Given the description of an element on the screen output the (x, y) to click on. 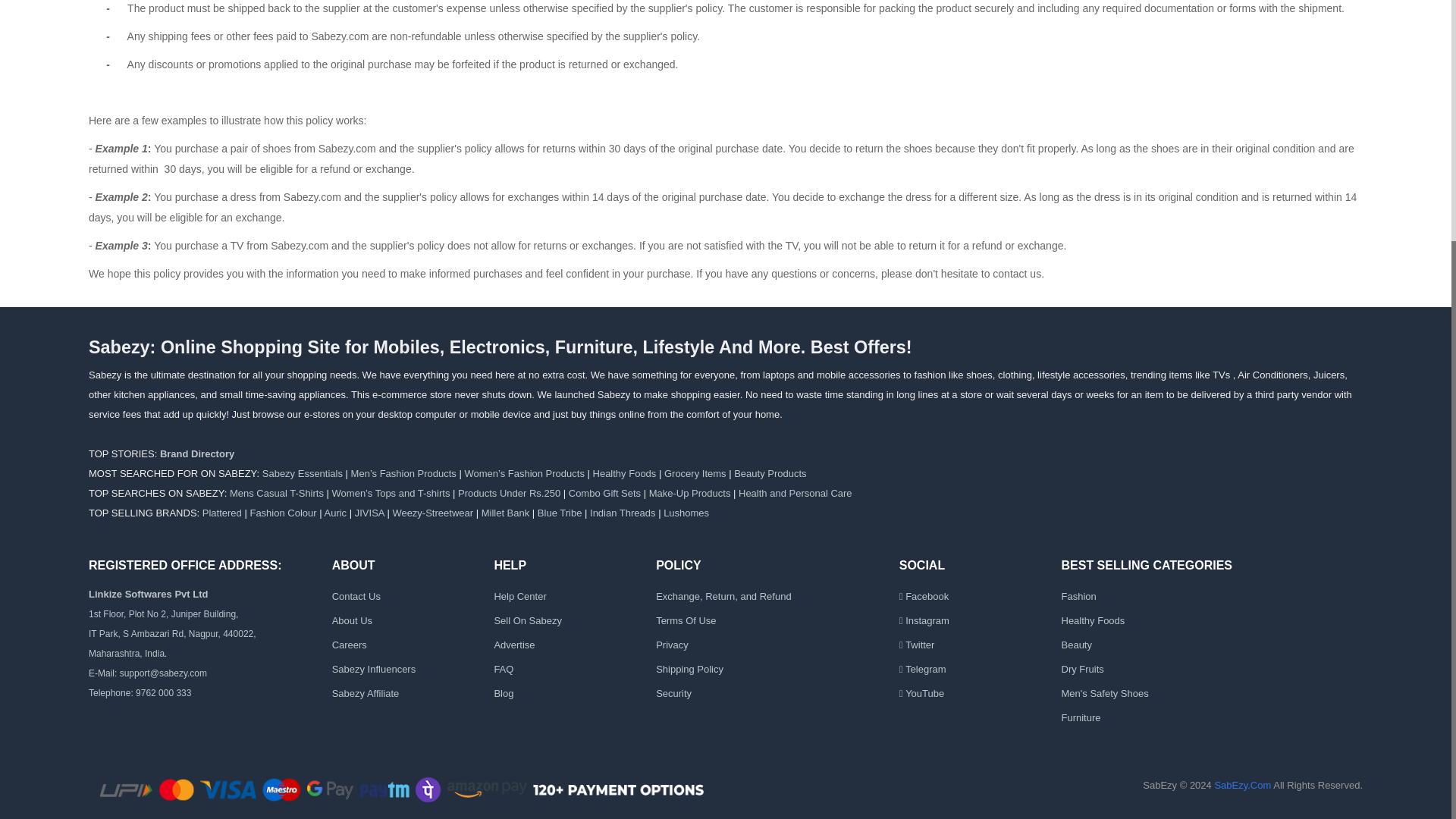
Health and Personal Care (794, 492)
Grocery Items (694, 473)
Healthy Foods (624, 473)
Beauty Products (769, 473)
Combo Gift Sets (604, 492)
Make-Up Products (689, 492)
Sabezy Essentials (302, 473)
Brand Directory (197, 453)
Plattered (221, 512)
Products Under Rs.250 (509, 492)
